Given the description of an element on the screen output the (x, y) to click on. 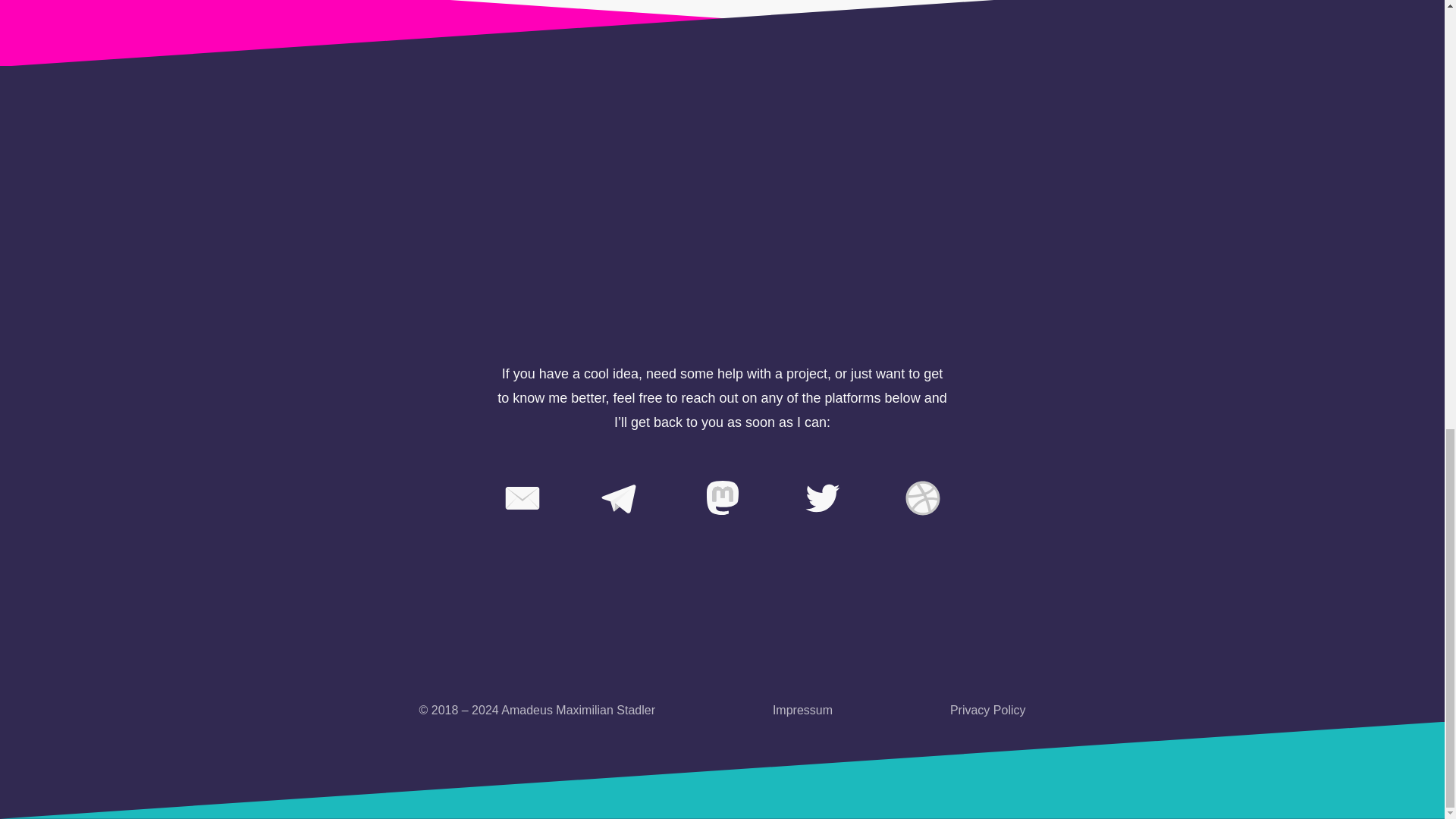
Privacy Policy (988, 710)
Impressum (802, 710)
